Given the description of an element on the screen output the (x, y) to click on. 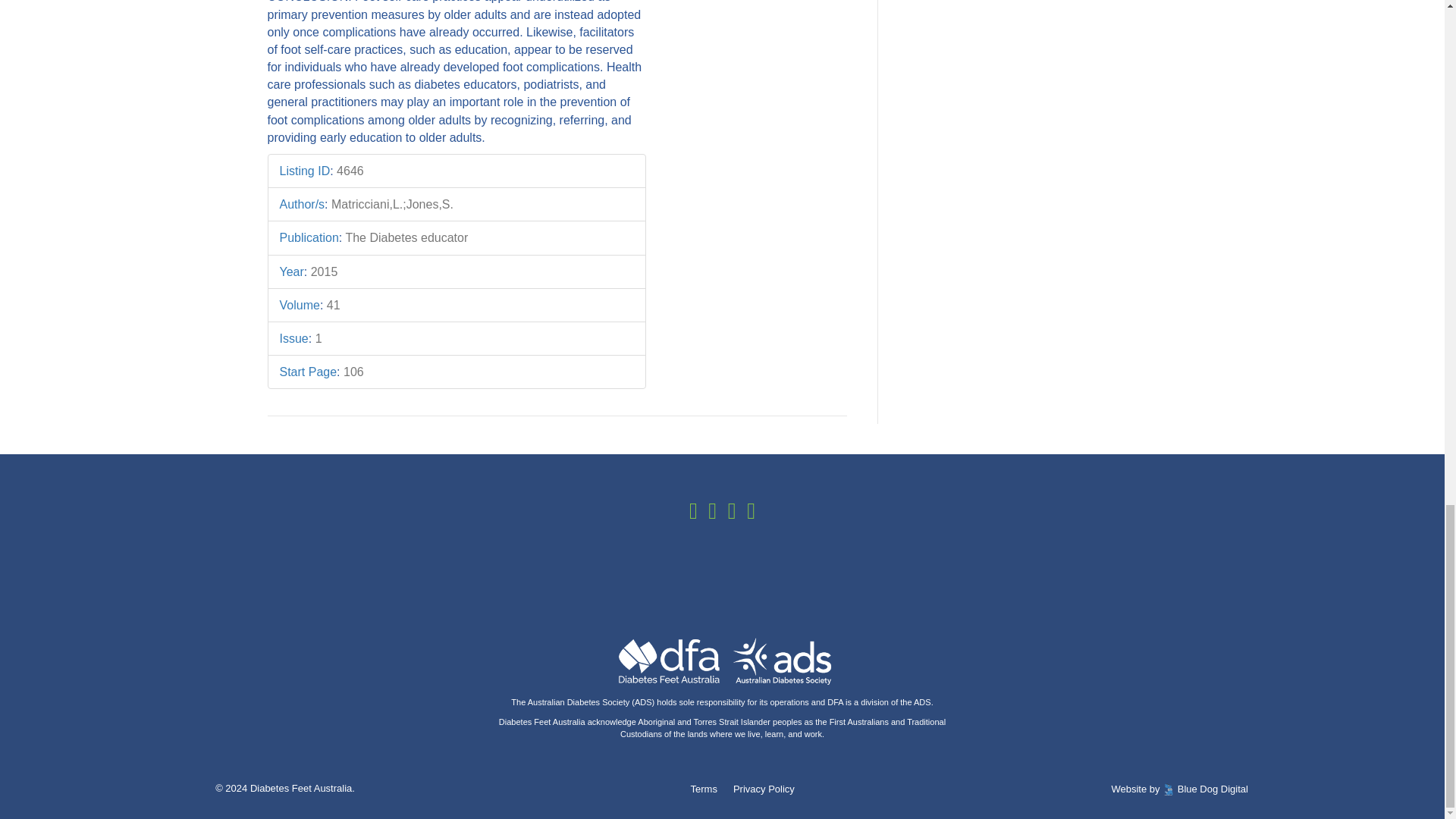
Blue Dog Digital (1212, 788)
Terms (703, 789)
Privacy Policy (763, 789)
dual logos (723, 662)
